Given the description of an element on the screen output the (x, y) to click on. 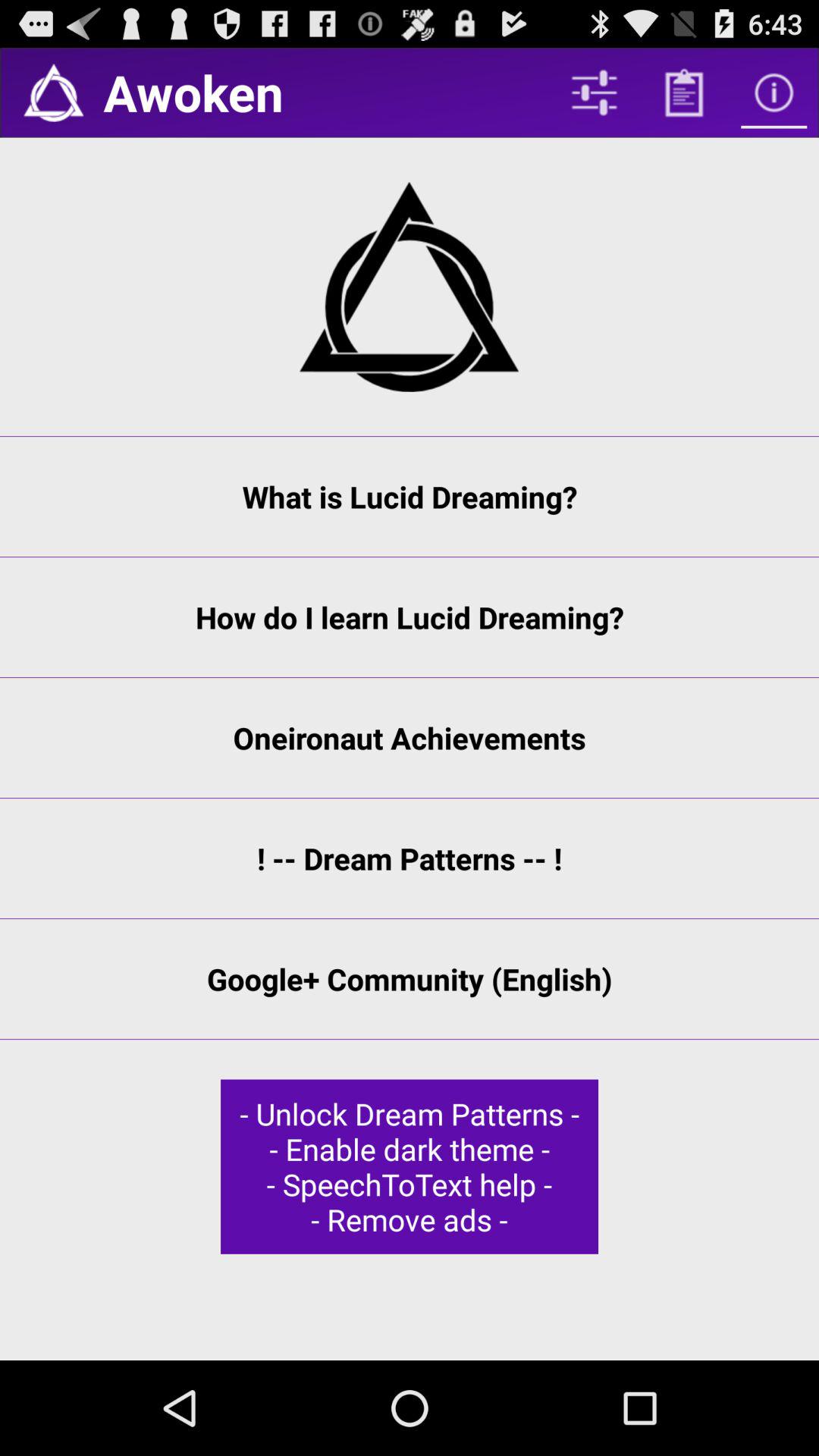
choose what is lucid item (409, 496)
